Given the description of an element on the screen output the (x, y) to click on. 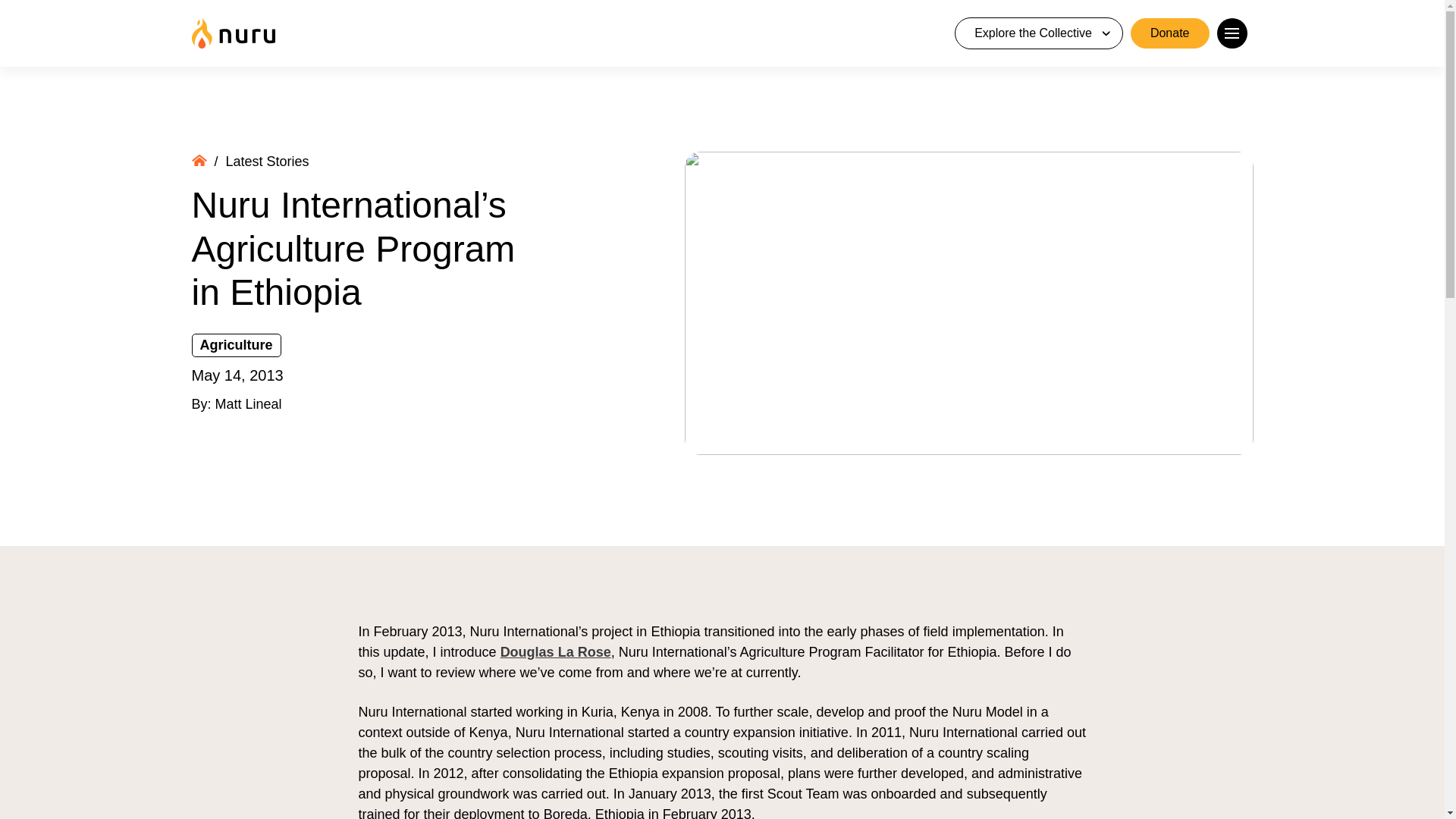
Donate (1170, 33)
Douglas La Rose (555, 652)
Latest Stories (266, 160)
